Given the description of an element on the screen output the (x, y) to click on. 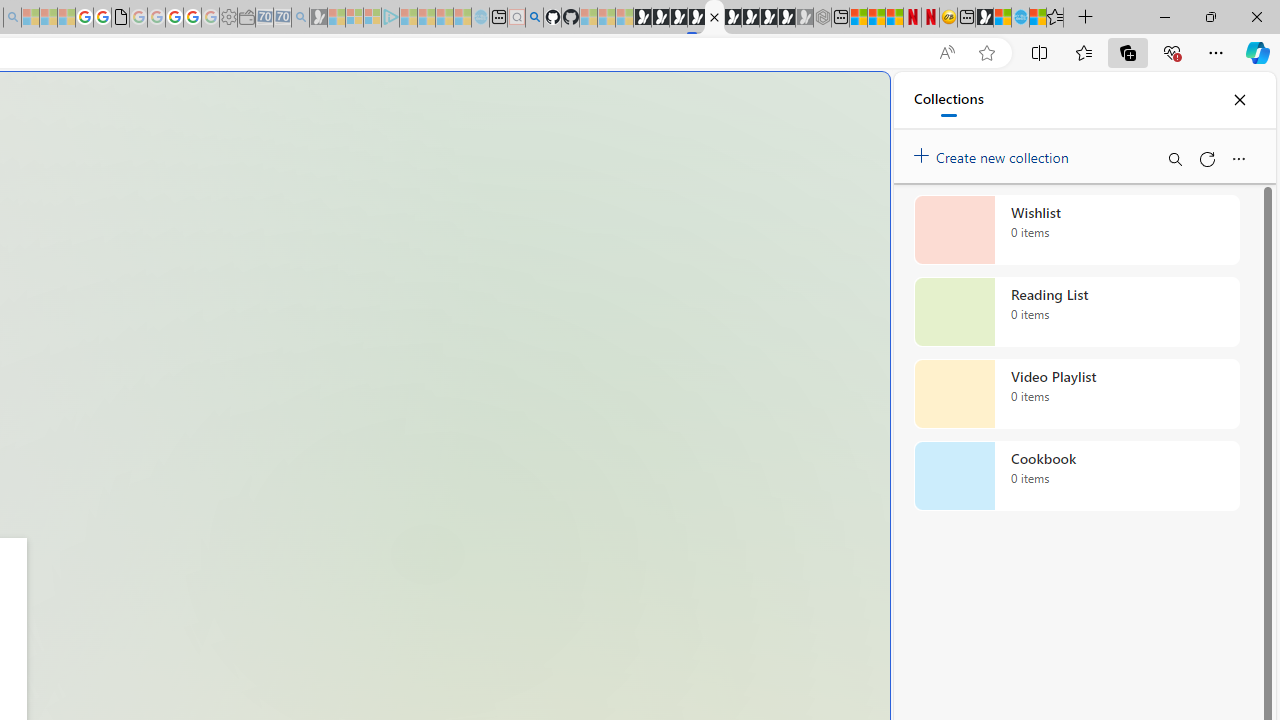
More options menu (1238, 158)
Cookbook collection, 0 items (1076, 475)
Search or enter web address (343, 191)
World - MSN (1002, 17)
Close split screen (844, 102)
Home | Sky Blue Bikes - Sky Blue Bikes (1020, 17)
Create new collection (994, 153)
